Given the description of an element on the screen output the (x, y) to click on. 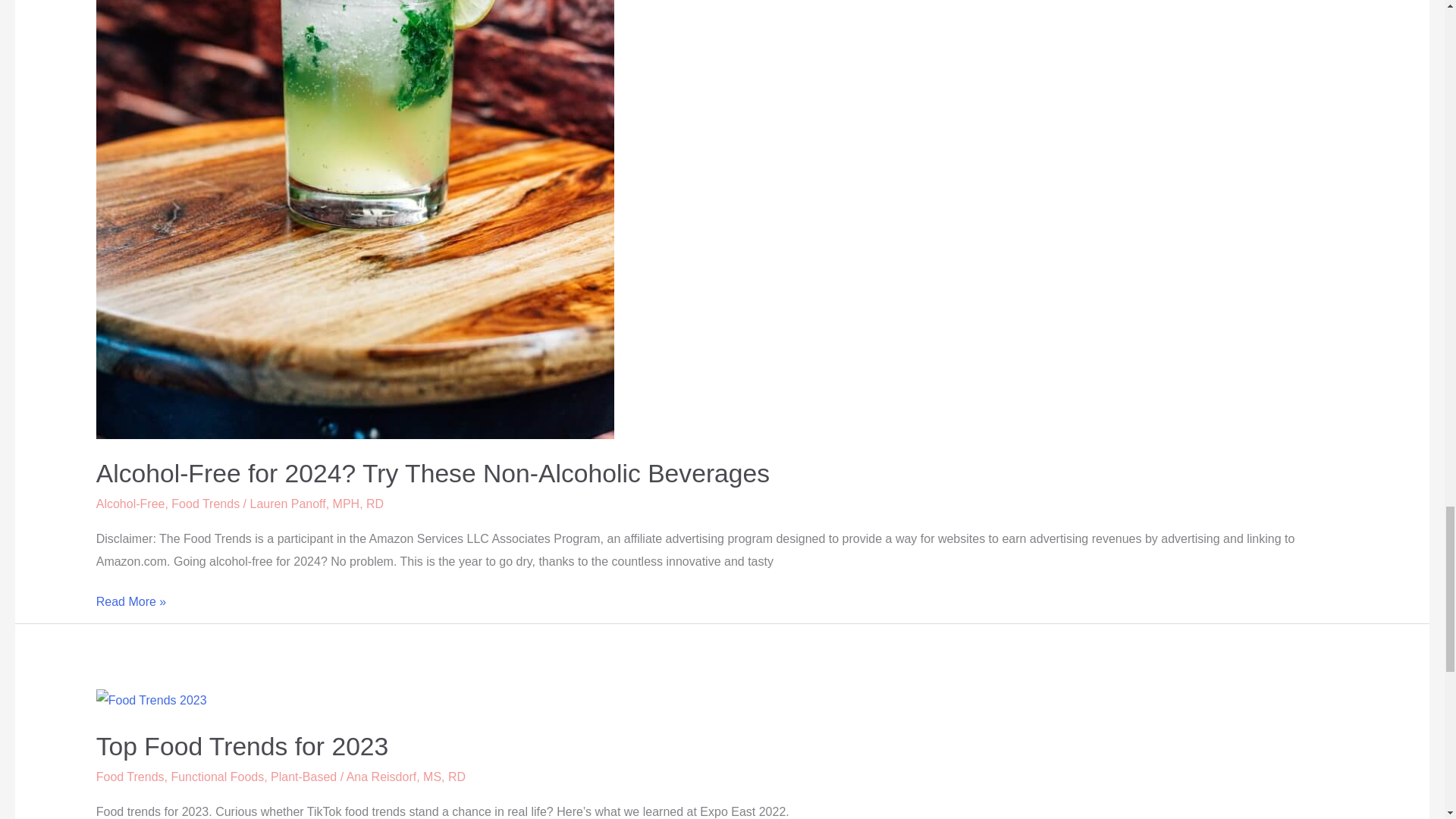
Alcohol-Free (130, 503)
Functional Foods (216, 776)
Ana Reisdorf, MS, RD (405, 776)
Top Food Trends for 2023 (242, 746)
View all posts by Ana Reisdorf, MS, RD (405, 776)
View all posts by Lauren Panoff, MPH, RD (316, 503)
Food Trends (205, 503)
Plant-Based (303, 776)
Food Trends (130, 776)
Alcohol-Free for 2024? Try These Non-Alcoholic Beverages (433, 473)
Lauren Panoff, MPH, RD (316, 503)
